Given the description of an element on the screen output the (x, y) to click on. 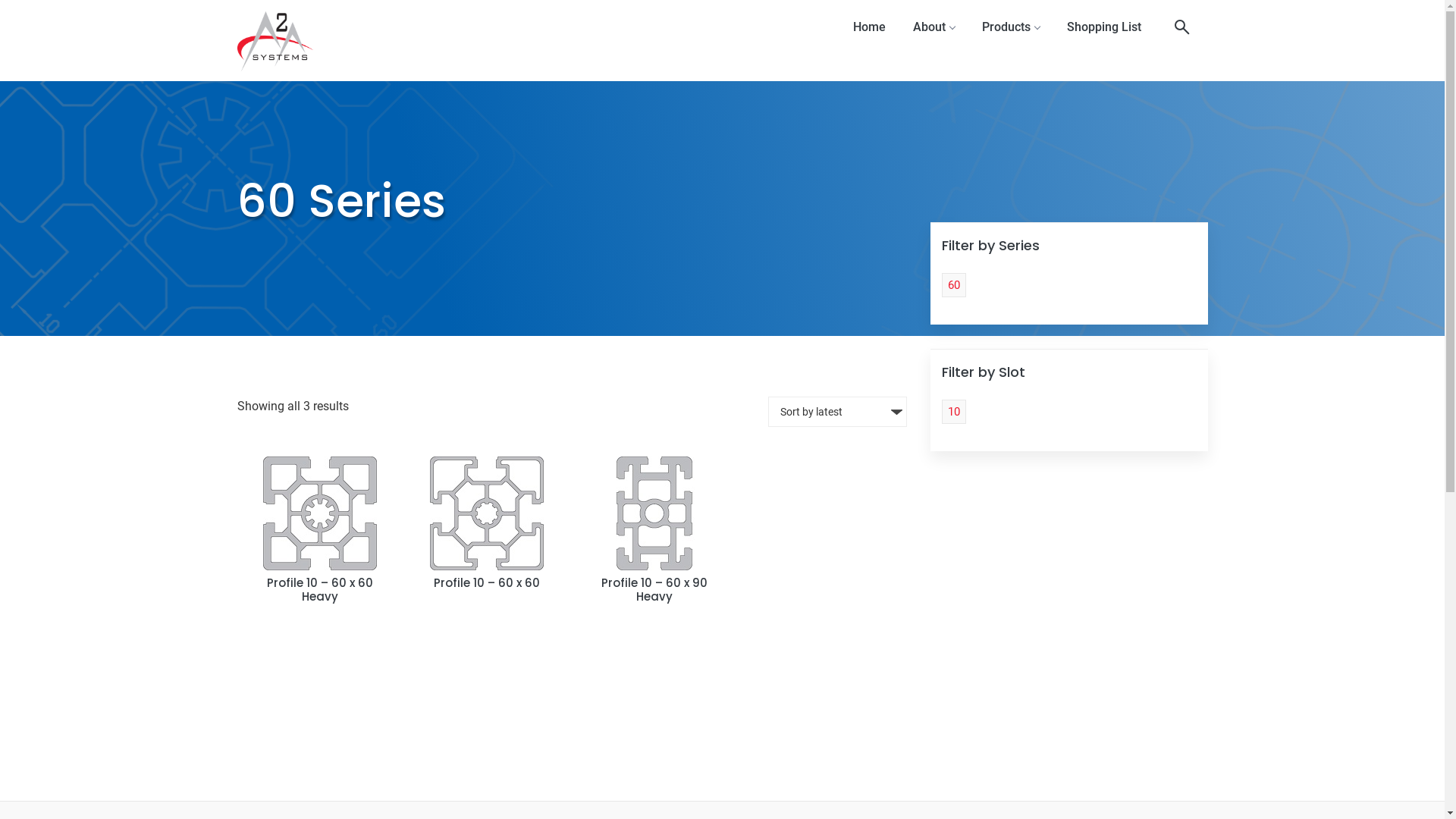
Home Element type: text (868, 26)
Products Element type: text (1009, 26)
60 Element type: text (953, 285)
10 Element type: text (953, 411)
Shopping List Element type: text (1103, 26)
About Element type: text (933, 26)
